Given the description of an element on the screen output the (x, y) to click on. 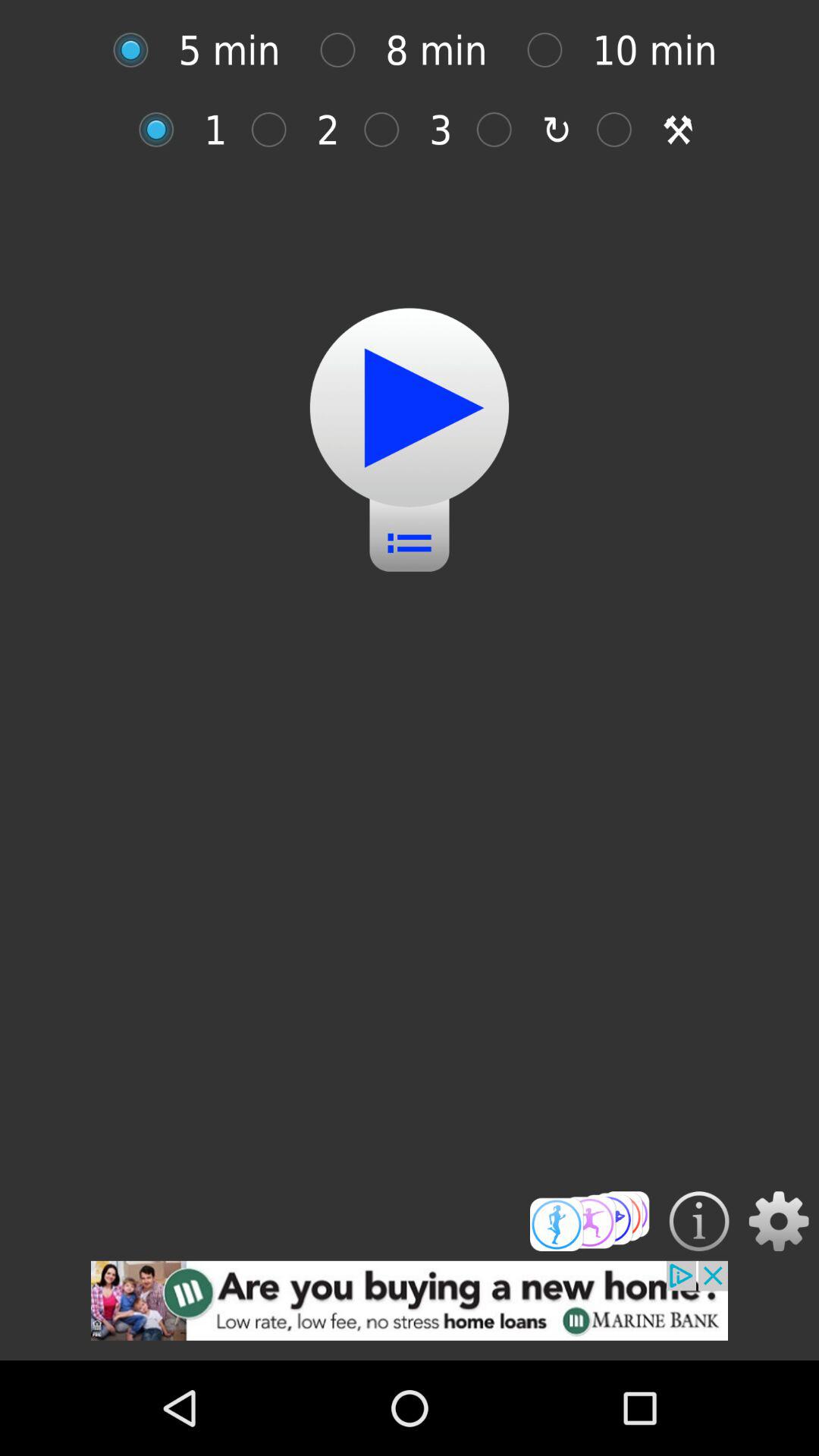
record option (164, 129)
